Given the description of an element on the screen output the (x, y) to click on. 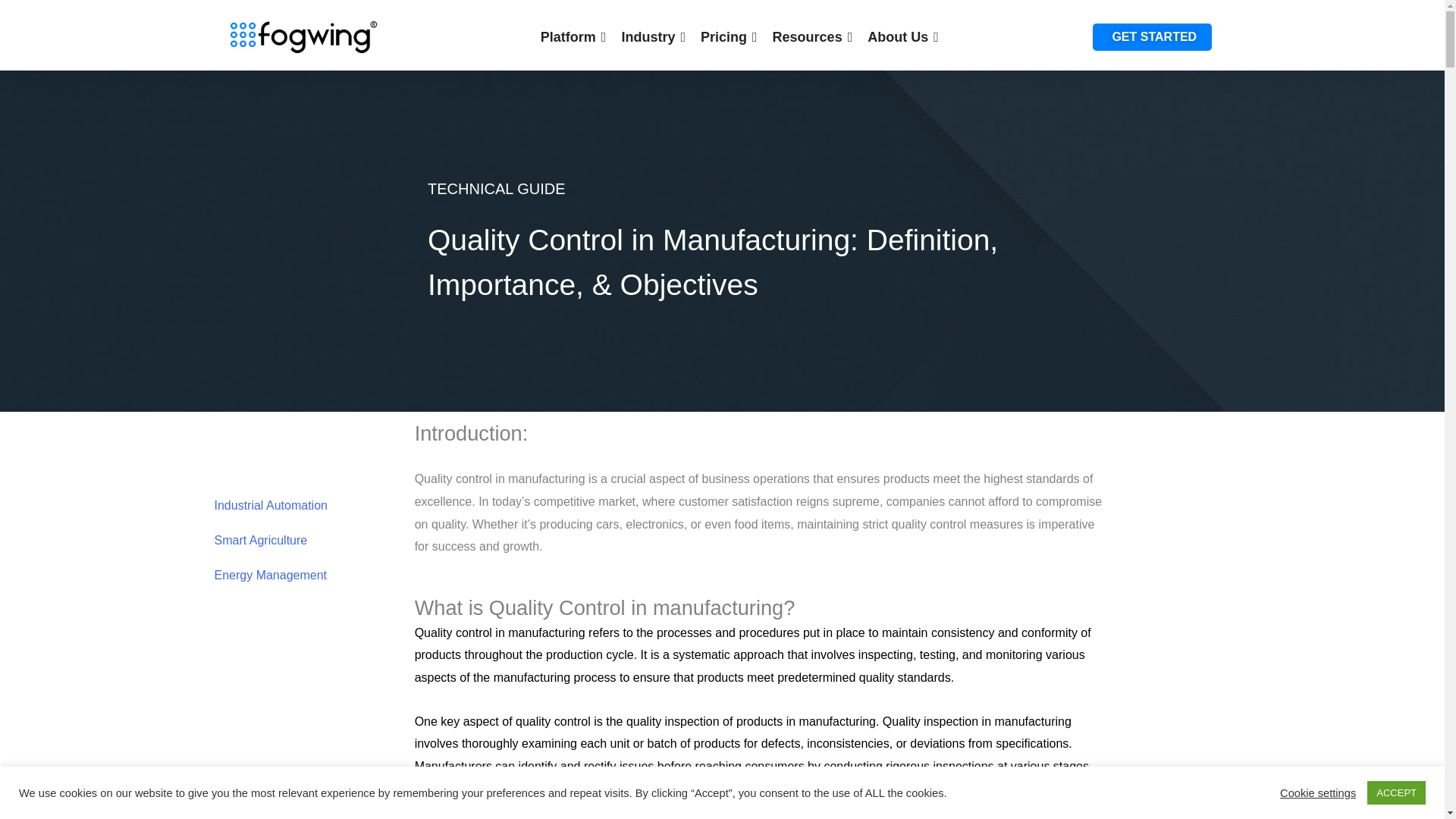
Resources (813, 36)
Platform (573, 36)
Industry (653, 36)
Pricing (728, 36)
